Given the description of an element on the screen output the (x, y) to click on. 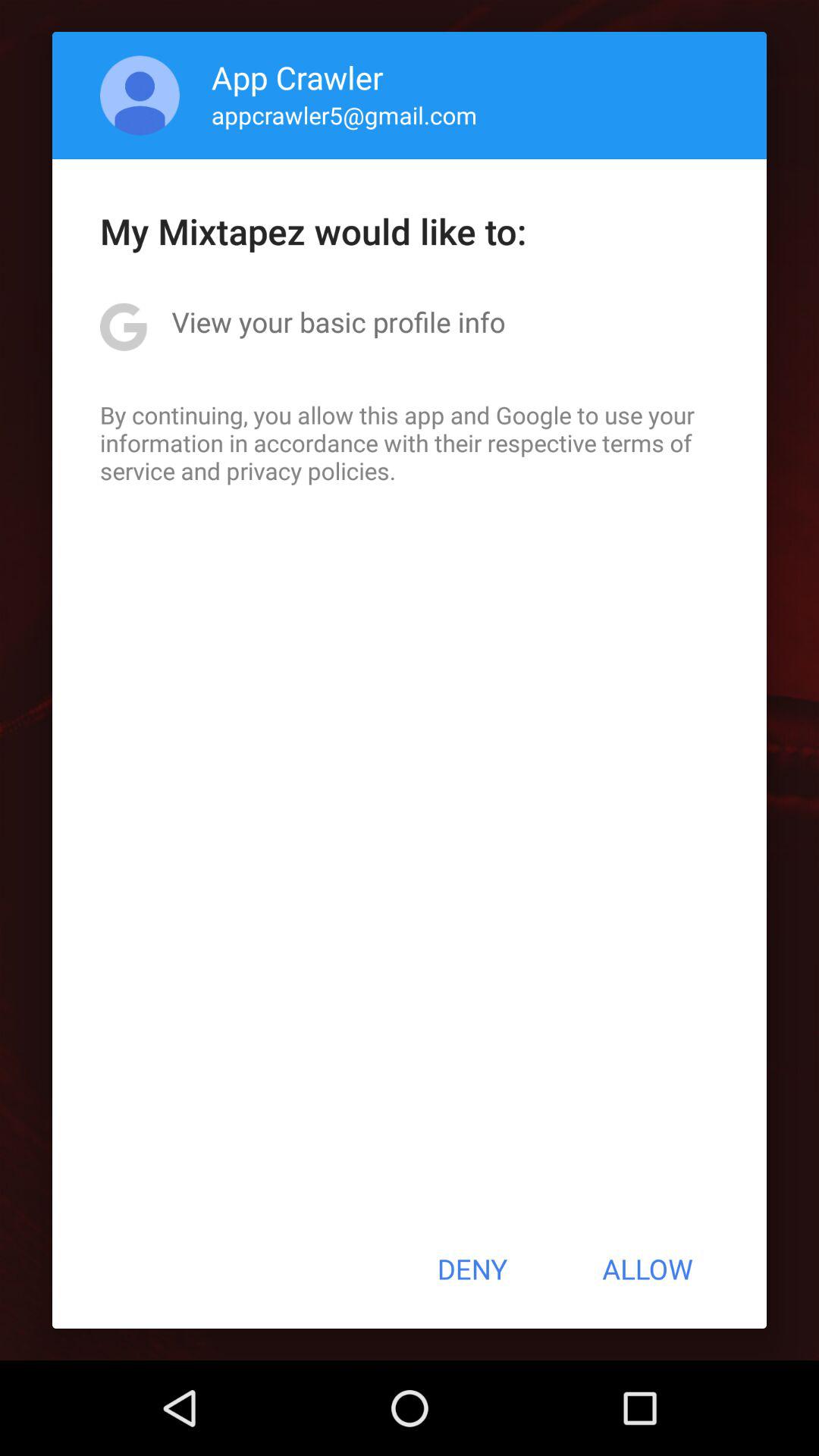
tap item below my mixtapez would app (338, 321)
